Given the description of an element on the screen output the (x, y) to click on. 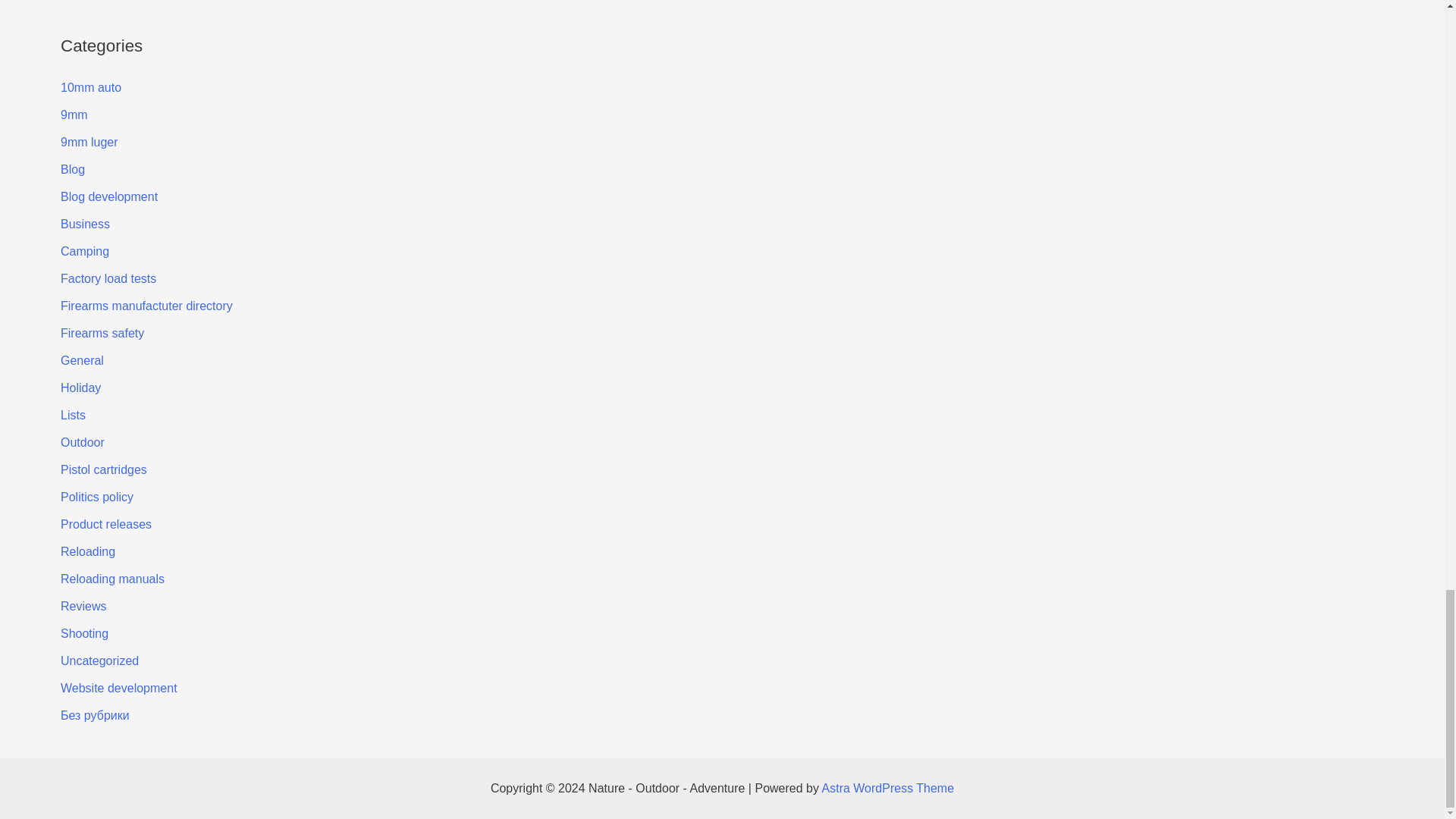
10mm auto (90, 87)
9mm luger (89, 141)
9mm (74, 114)
